Given the description of an element on the screen output the (x, y) to click on. 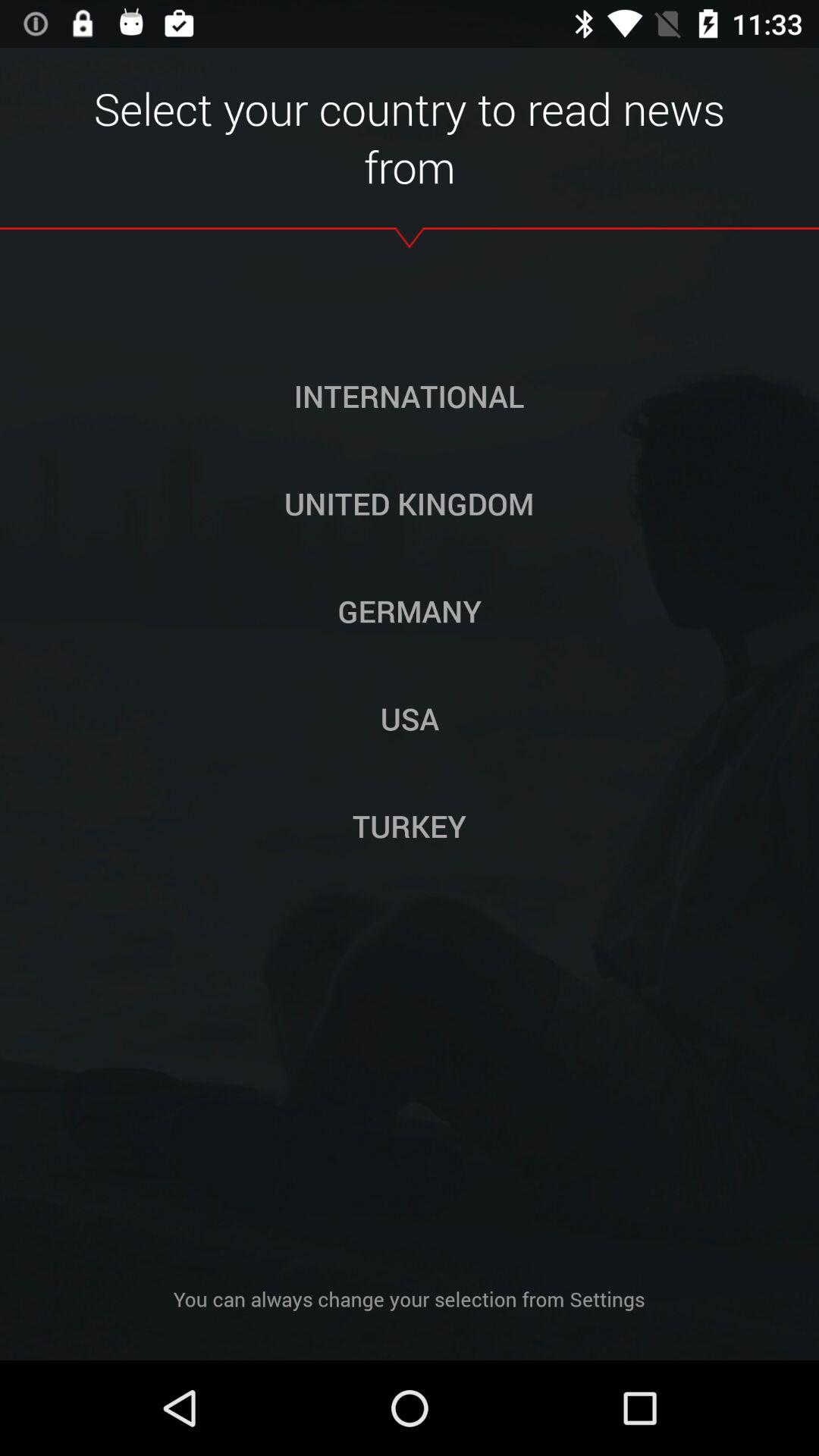
click the international icon (409, 395)
